Given the description of an element on the screen output the (x, y) to click on. 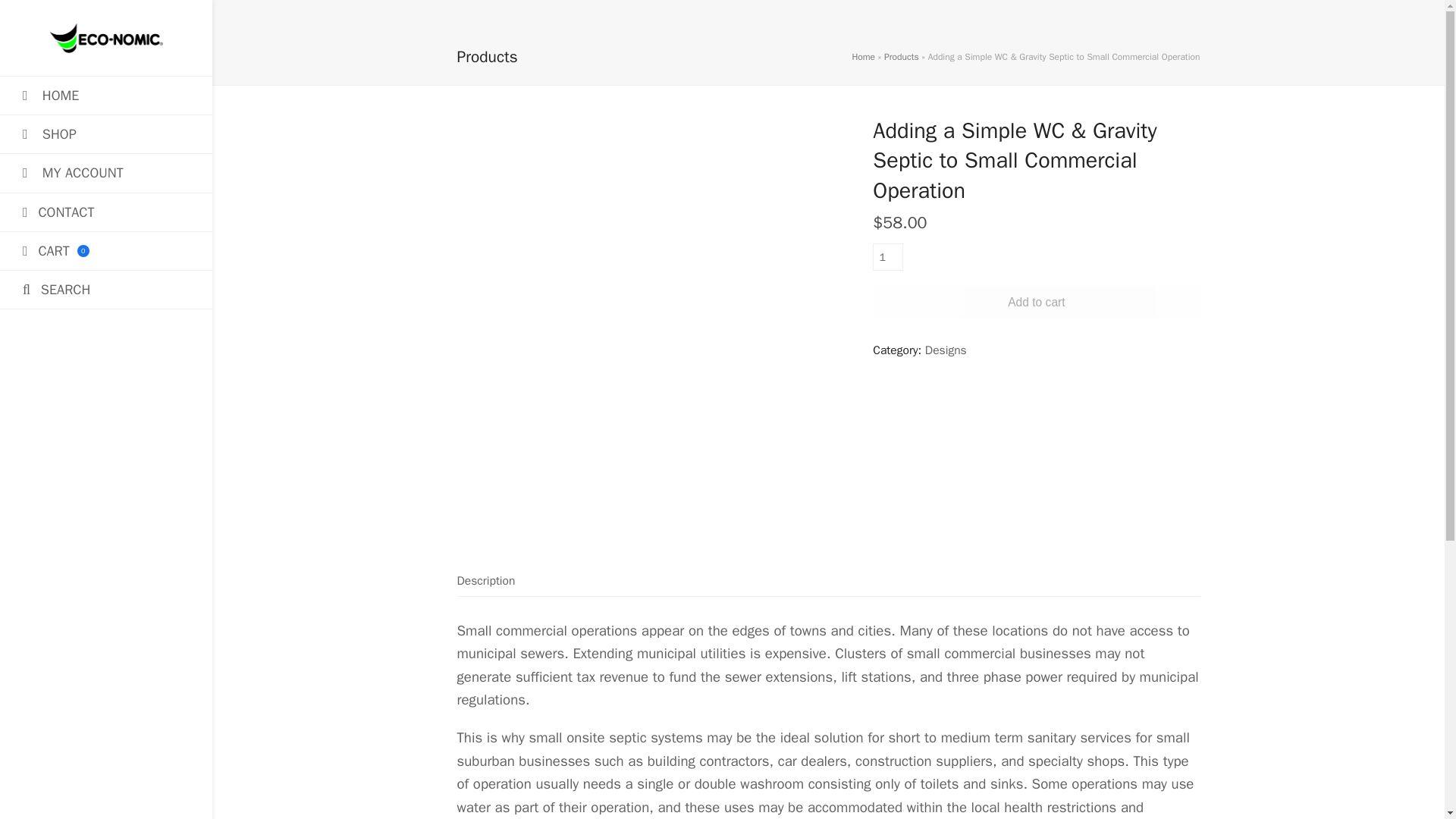
Home (863, 56)
HOME (106, 95)
Products (106, 250)
Add to cart (900, 56)
CONTACT (1035, 301)
Designs (106, 211)
1 (945, 350)
Description (887, 257)
SHOP (486, 580)
